Given the description of an element on the screen output the (x, y) to click on. 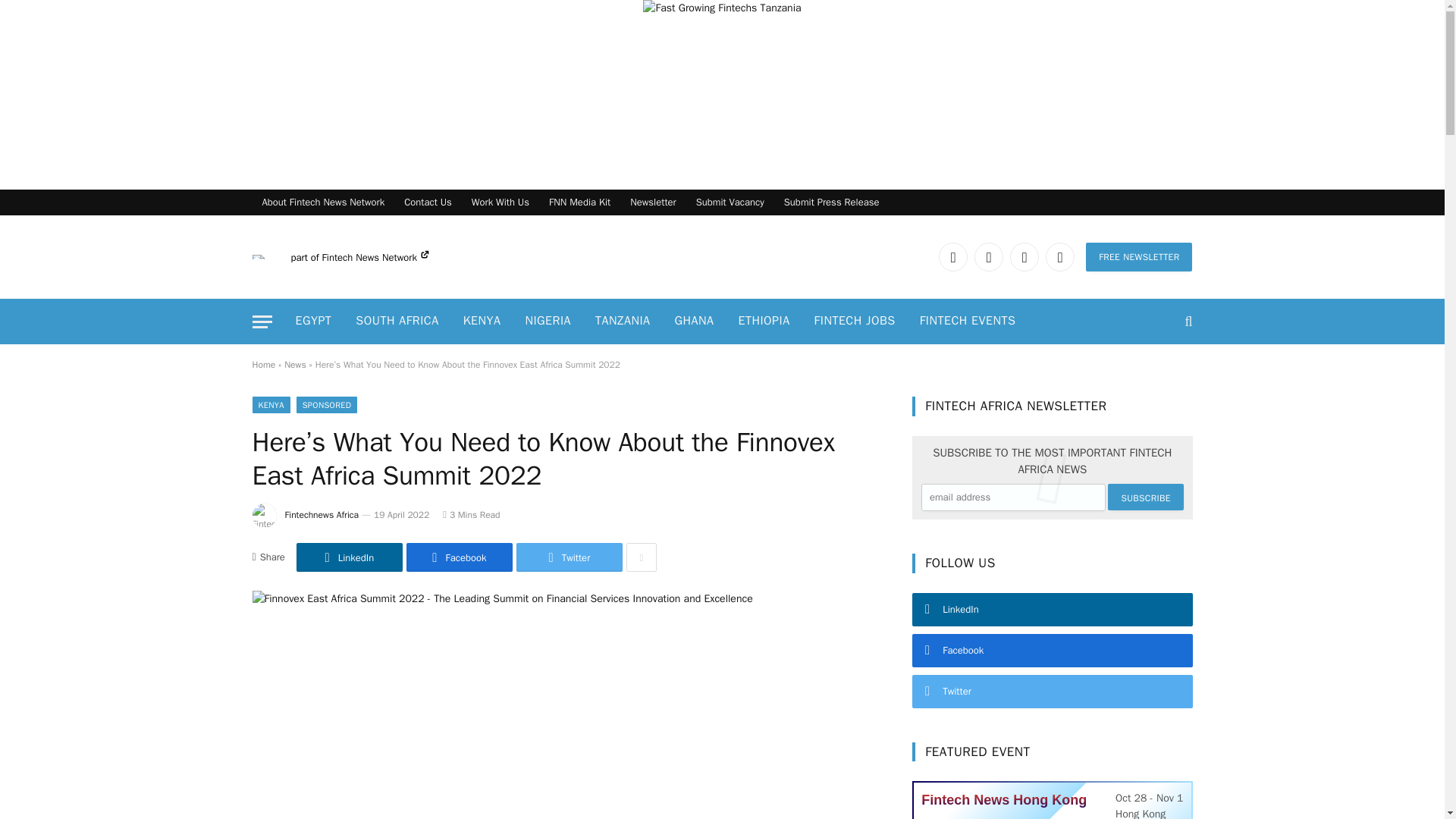
EGYPT (313, 320)
Fintech News Network (375, 256)
GHANA (694, 320)
LinkedIn (953, 256)
Contact Us (427, 201)
Share on Facebook (459, 556)
TANZANIA (622, 320)
About Fintech News Network (322, 201)
KENYA (482, 320)
Subscribe (1145, 497)
